Given the description of an element on the screen output the (x, y) to click on. 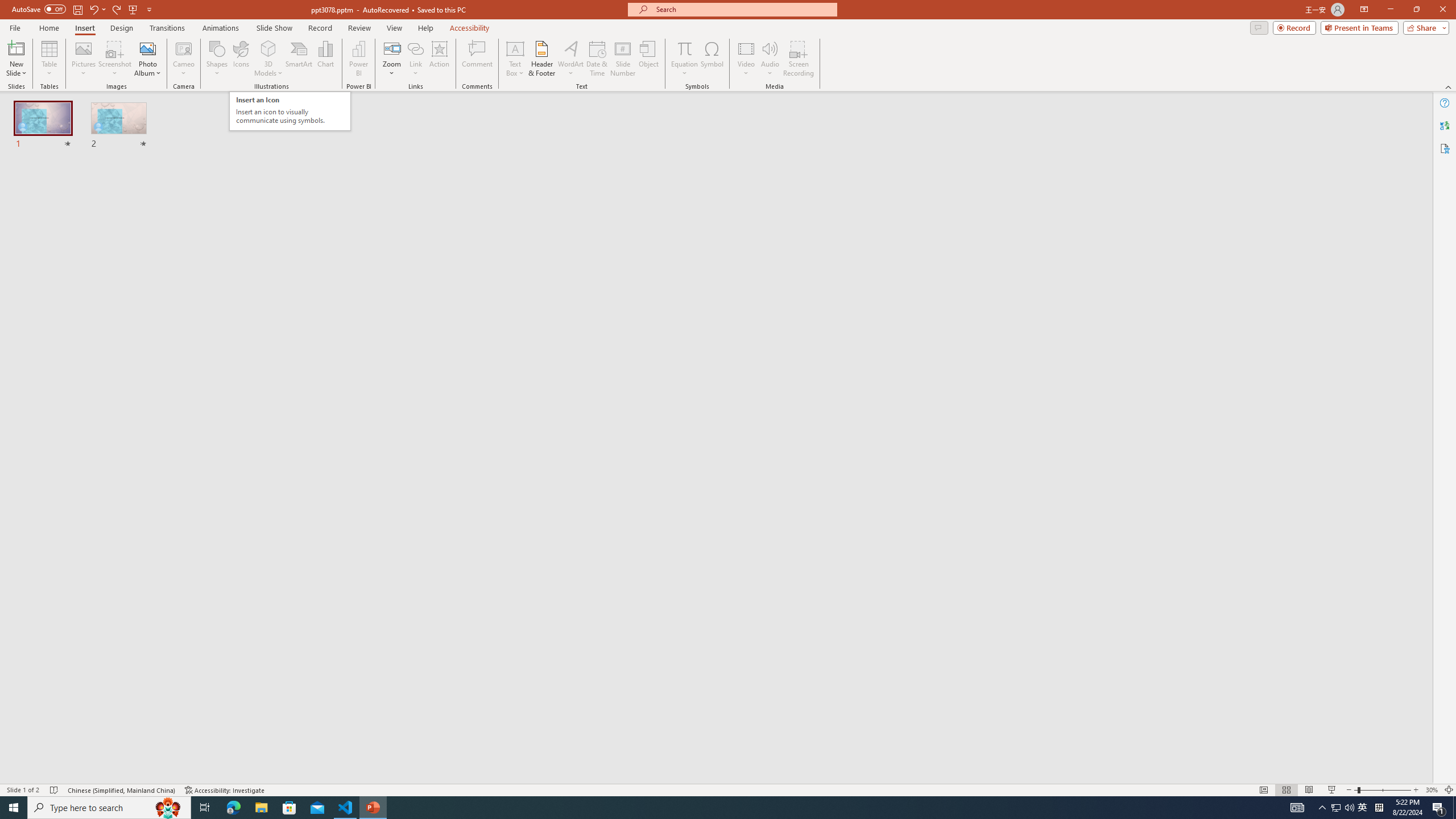
Date & Time... (596, 58)
Action (439, 58)
Chart... (325, 58)
WordArt (570, 58)
Screenshot (114, 58)
Power BI (358, 58)
Video (745, 58)
